Given the description of an element on the screen output the (x, y) to click on. 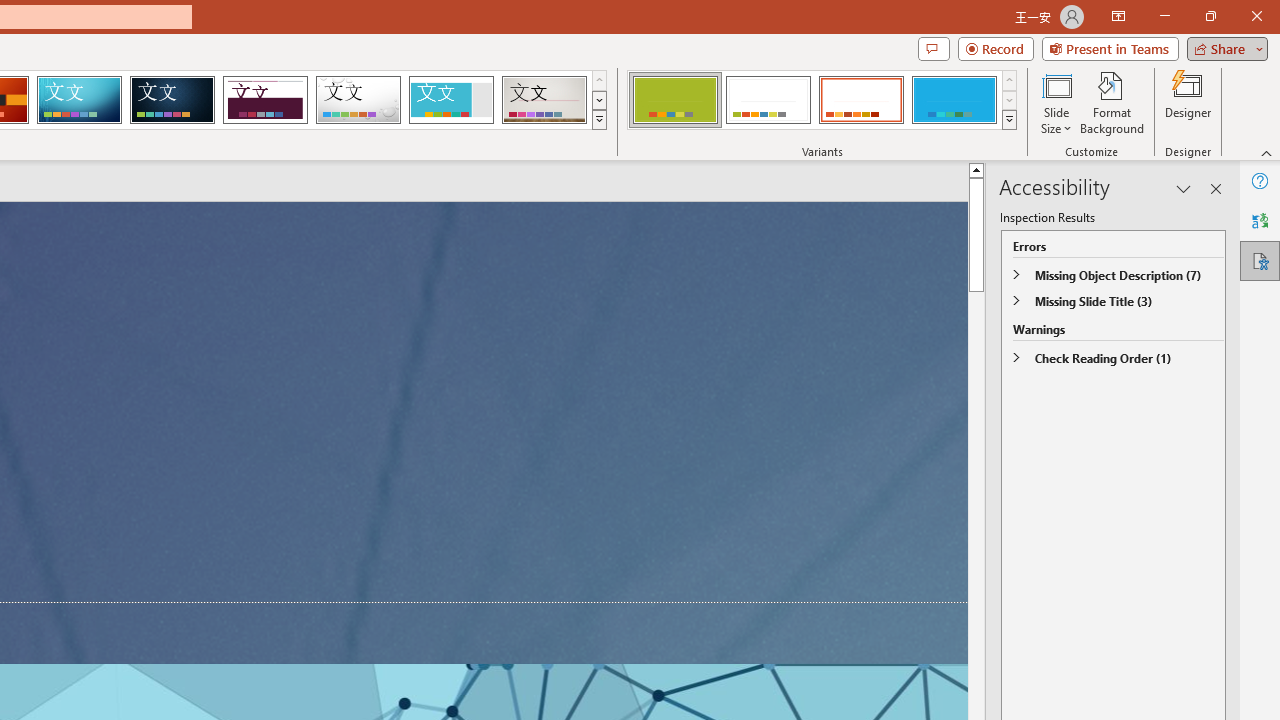
Frame (450, 100)
Basis Variant 4 (953, 100)
Slide Size (1056, 102)
Damask (171, 100)
Variants (1009, 120)
Format Background (1111, 102)
Themes (598, 120)
Basis Variant 3 (861, 100)
